Given the description of an element on the screen output the (x, y) to click on. 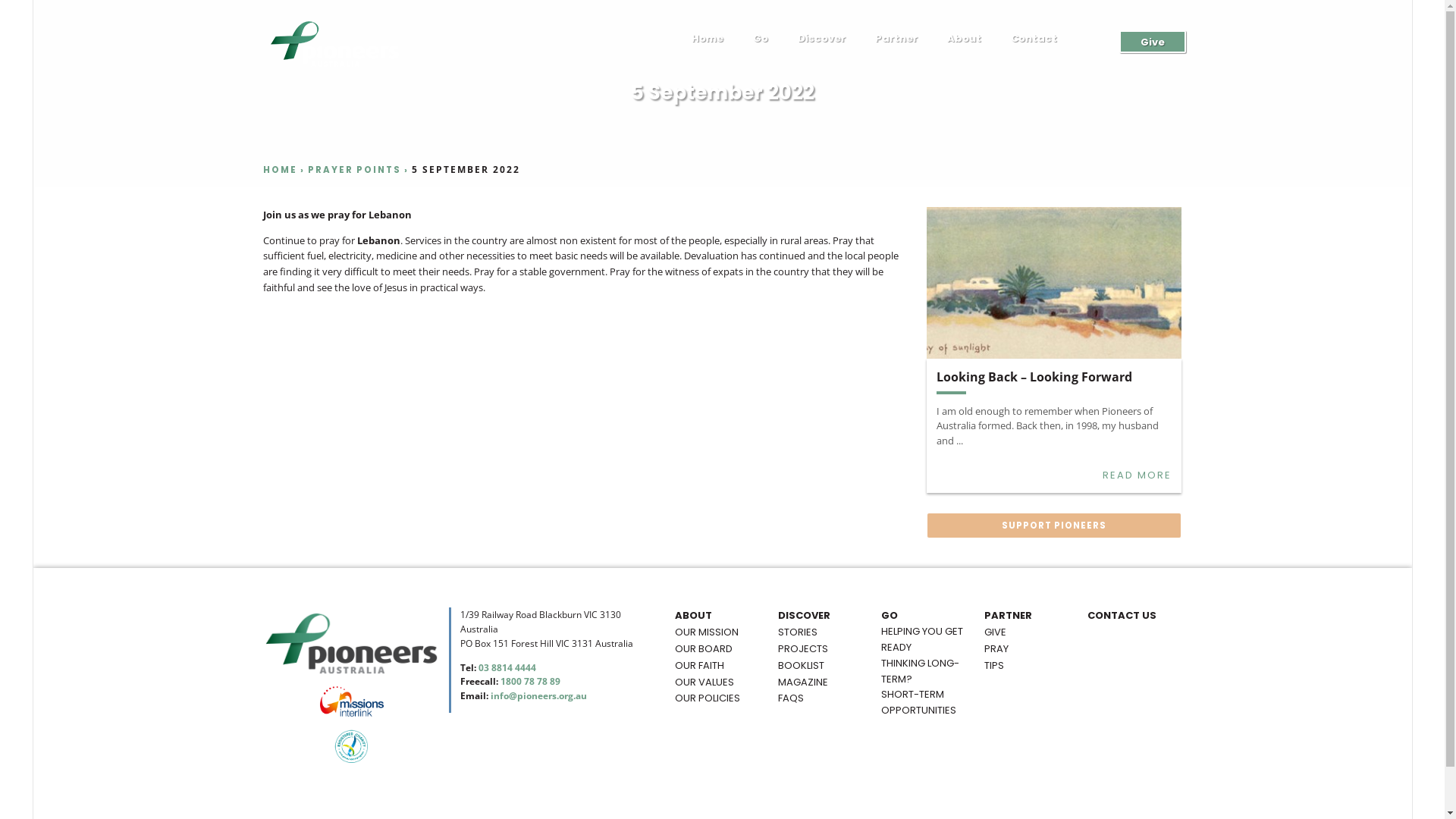
CONTACT US Element type: text (1121, 616)
03 8814 4444 Element type: text (507, 667)
GIVE Element type: text (995, 632)
OUR BOARD Element type: text (703, 649)
1800 78 78 89 Element type: text (530, 680)
info@pioneers.org.au Element type: text (538, 695)
STORIES Element type: text (797, 632)
ABOUT Element type: text (693, 616)
THINKING LONG-TERM? Element type: text (923, 671)
OUR FAITH Element type: text (699, 666)
Partner Element type: text (896, 41)
MAGAZINE Element type: text (803, 682)
Discover Element type: text (821, 41)
OUR VALUES Element type: text (704, 682)
PROJECTS Element type: text (803, 649)
HELPING YOU GET READY Element type: text (923, 639)
SUPPORT PIONEERS Element type: text (1053, 525)
HOME Element type: text (280, 169)
PRAYER POINTS Element type: text (354, 169)
TIPS Element type: text (994, 666)
About Element type: text (964, 41)
PARTNER Element type: text (1008, 616)
FAQS Element type: text (790, 698)
OUR MISSION Element type: text (706, 632)
BOOKLIST Element type: text (801, 666)
Contact Element type: text (1033, 41)
OUR POLICIES Element type: text (707, 698)
Give Element type: text (1152, 41)
PRAY Element type: text (996, 649)
SHORT-TERM OPPORTUNITIES Element type: text (923, 702)
Go Element type: text (760, 41)
DISCOVER Element type: text (804, 616)
Search Element type: text (21, 9)
Home Element type: text (707, 41)
GO Element type: text (889, 616)
